Given the description of an element on the screen output the (x, y) to click on. 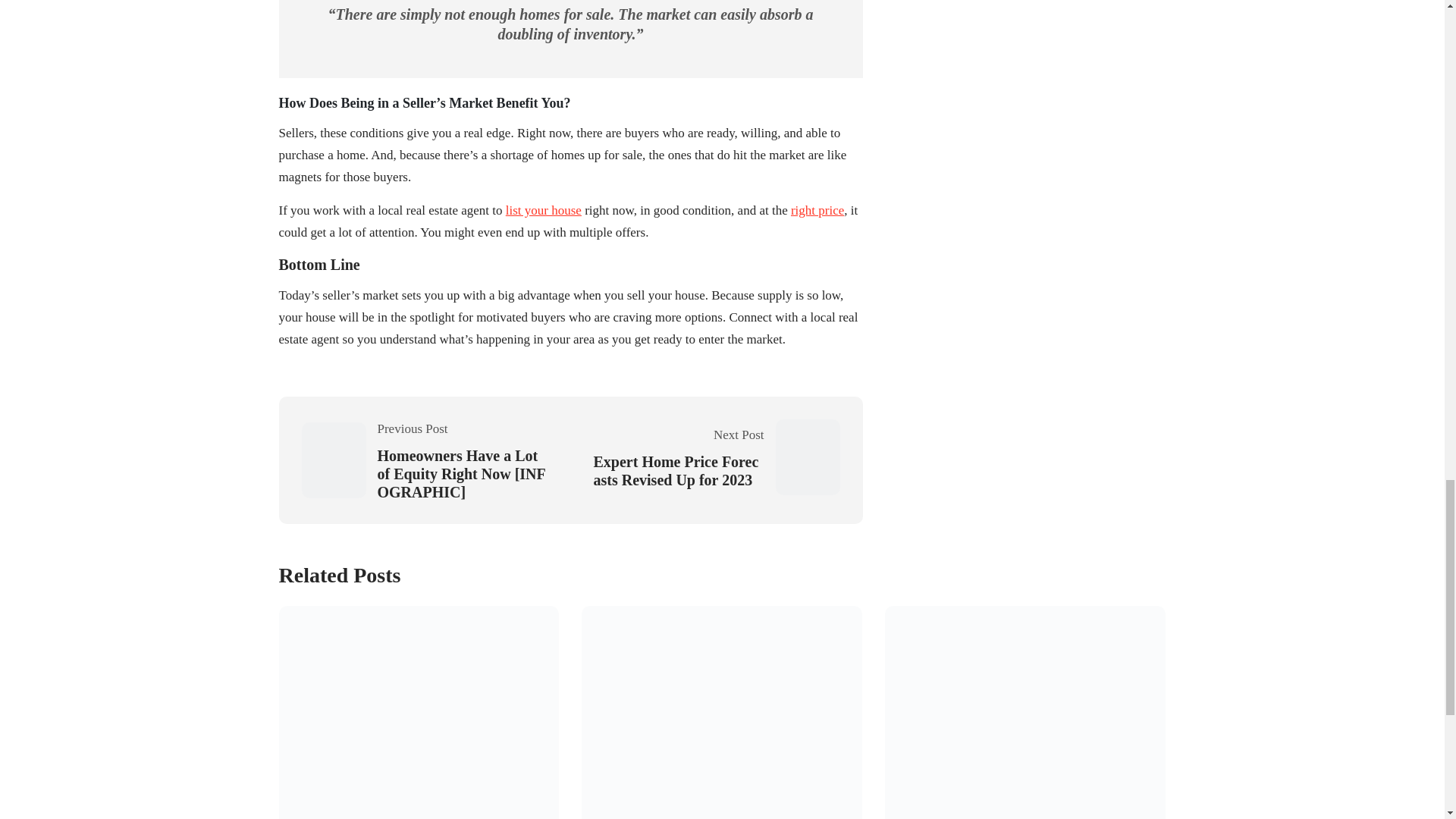
right price (817, 210)
list your house (542, 210)
